Given the description of an element on the screen output the (x, y) to click on. 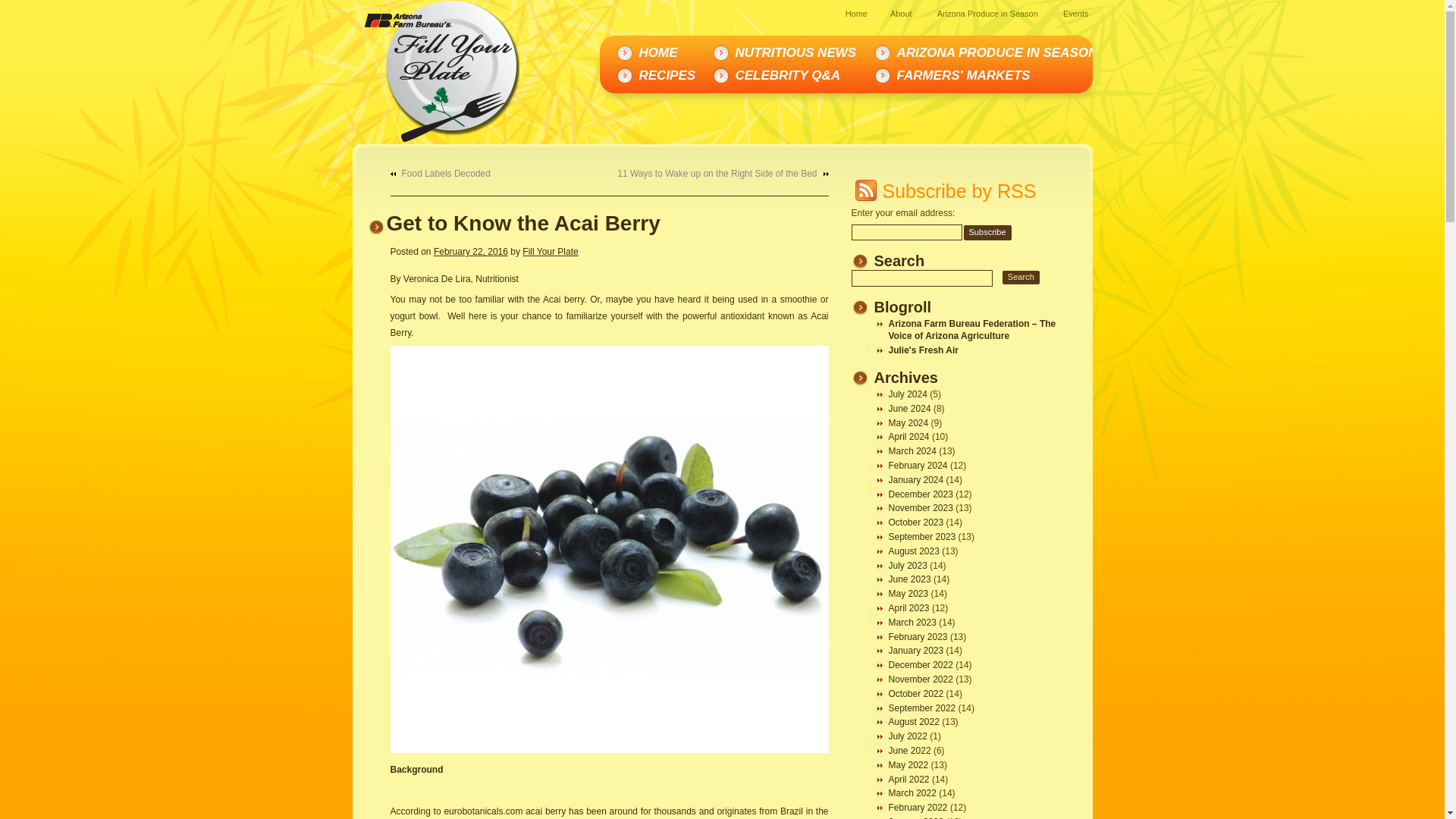
Fill Your Plate Blog (478, 79)
FARMERS' MARKETS (968, 75)
Fill Your Plate Blog (478, 79)
Search (1021, 277)
View all posts by Fill Your Plate (550, 251)
HOME (663, 52)
Fill Your Plate (550, 251)
Arizona Produce in Season (987, 13)
Home (856, 13)
5:45 am (470, 251)
11 Ways to Wake up on the Right Side of the Bed (722, 173)
Events (1075, 13)
NUTRITIOUS NEWS (801, 52)
Food Labels Decoded (439, 173)
About (900, 13)
